Given the description of an element on the screen output the (x, y) to click on. 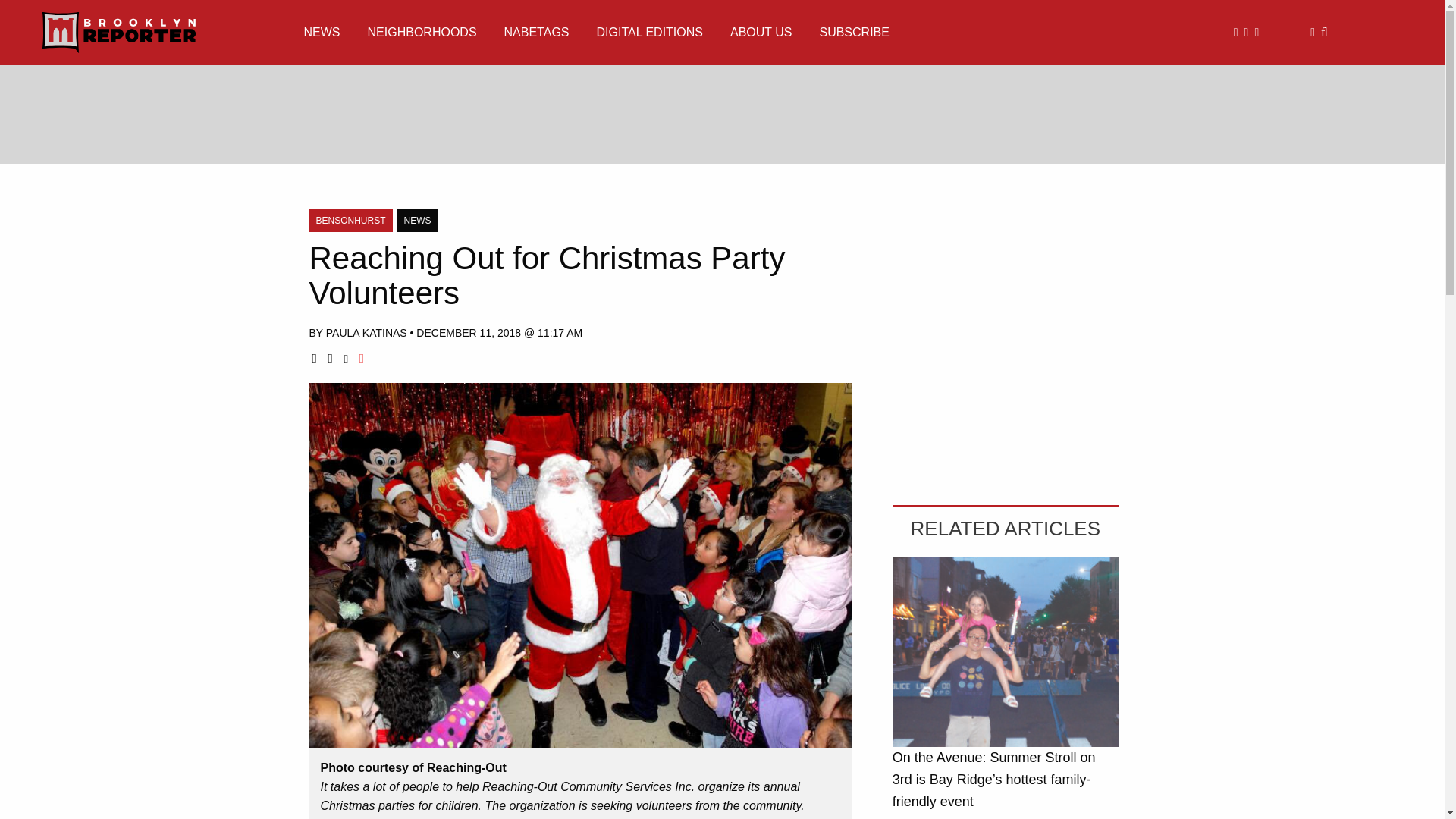
Search (1323, 31)
